Given the description of an element on the screen output the (x, y) to click on. 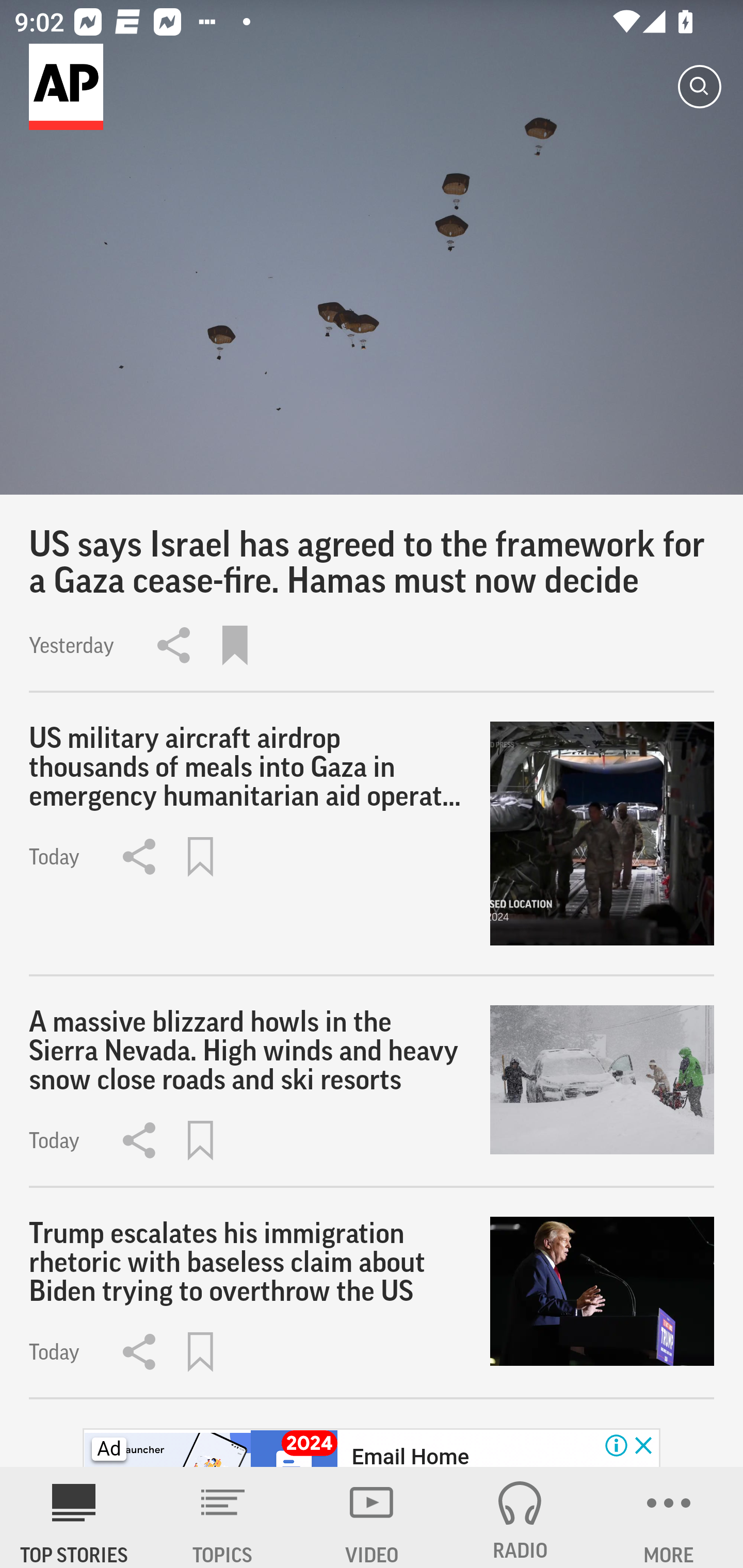
Email Home (409, 1454)
AP News TOP STORIES (74, 1517)
TOPICS (222, 1517)
VIDEO (371, 1517)
RADIO (519, 1517)
MORE (668, 1517)
